Given the description of an element on the screen output the (x, y) to click on. 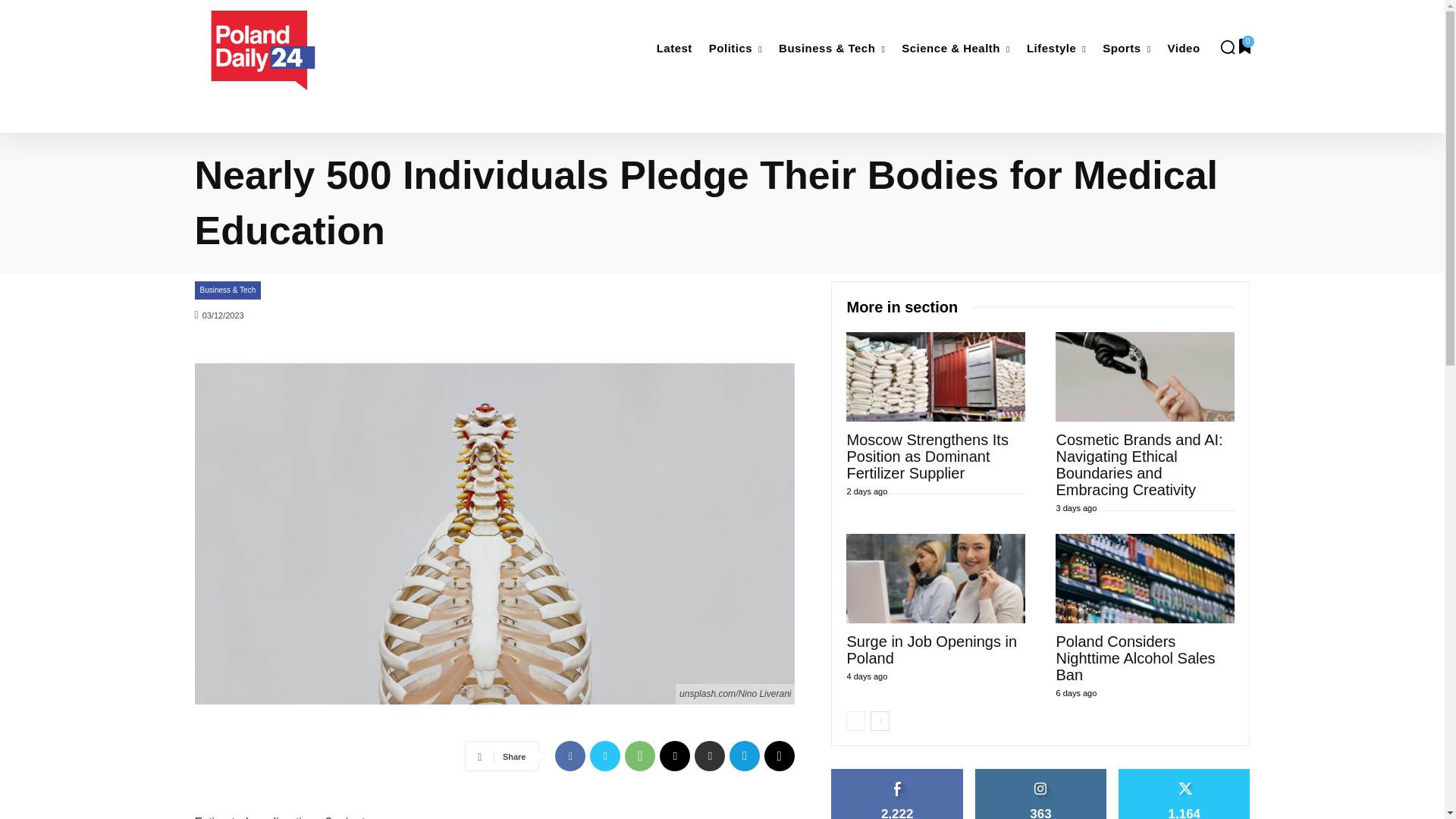
Politics (735, 48)
